Given the description of an element on the screen output the (x, y) to click on. 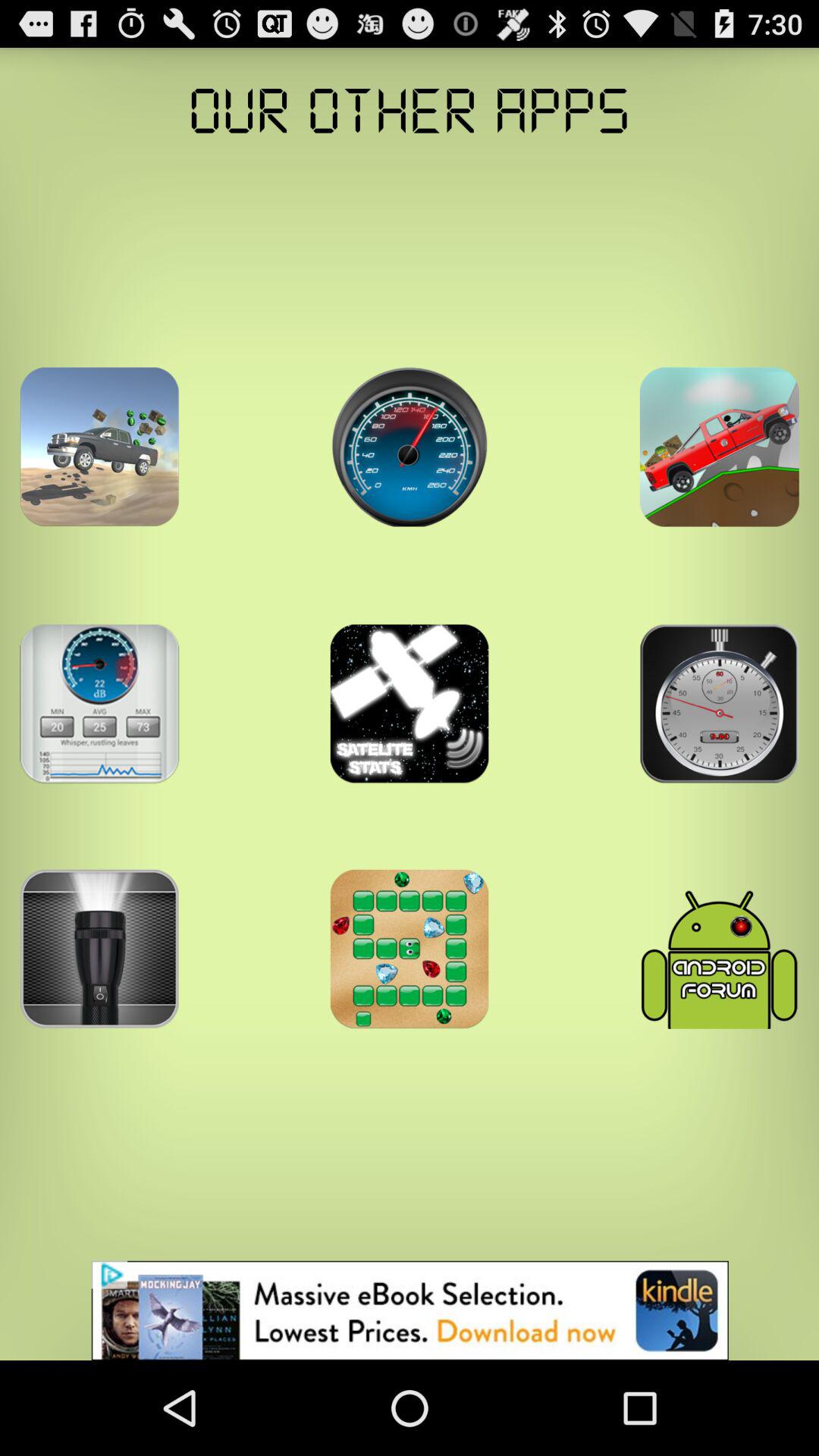
click timer (719, 703)
